Given the description of an element on the screen output the (x, y) to click on. 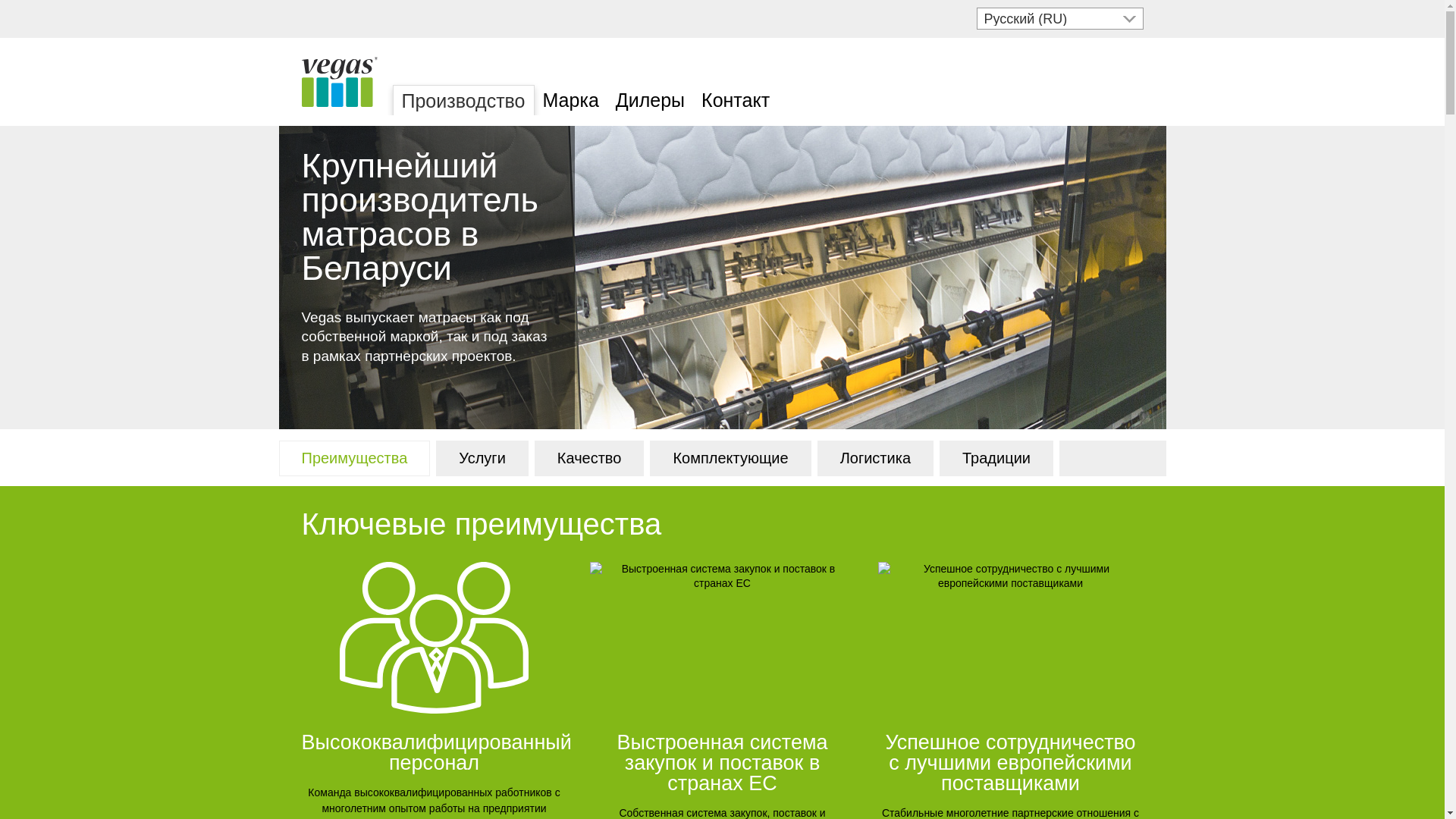
Vegas Element type: hover (339, 81)
